Given the description of an element on the screen output the (x, y) to click on. 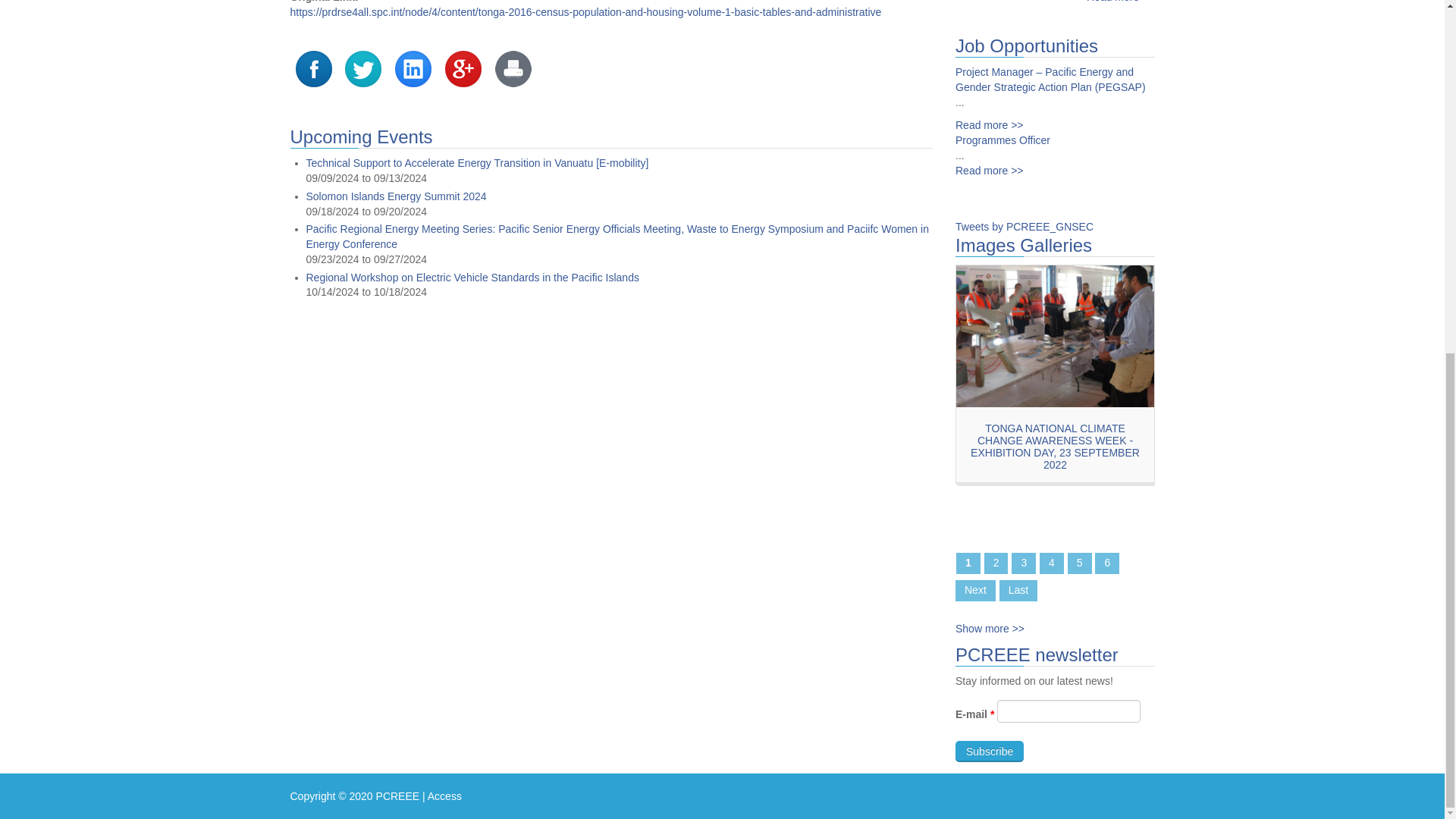
Share this on Twitter (363, 67)
Publish this post to LinkedIn (412, 67)
Subscribe (989, 751)
Share on Facebook (313, 67)
